Given the description of an element on the screen output the (x, y) to click on. 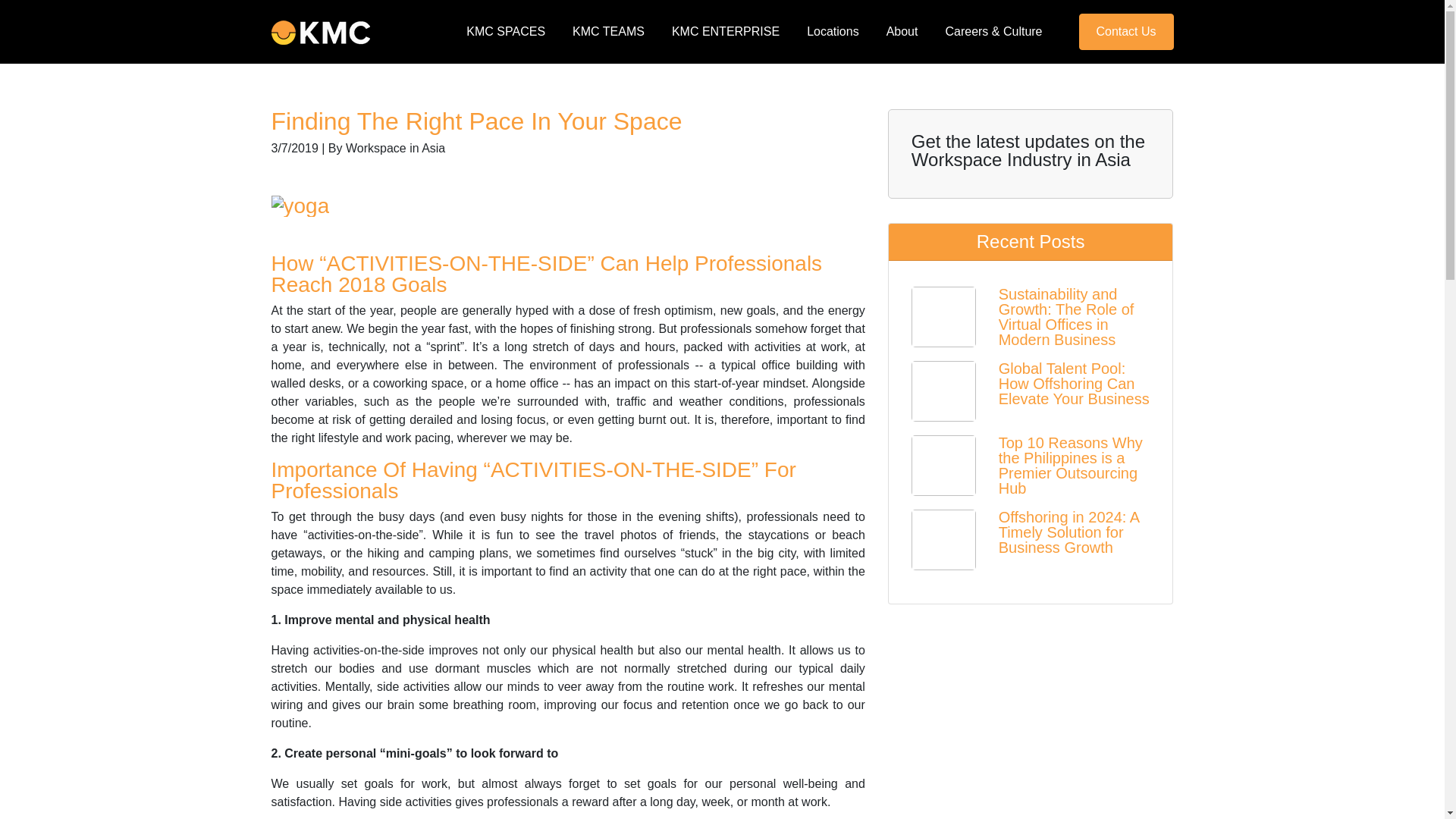
KMC Solutions (319, 32)
